Given the description of an element on the screen output the (x, y) to click on. 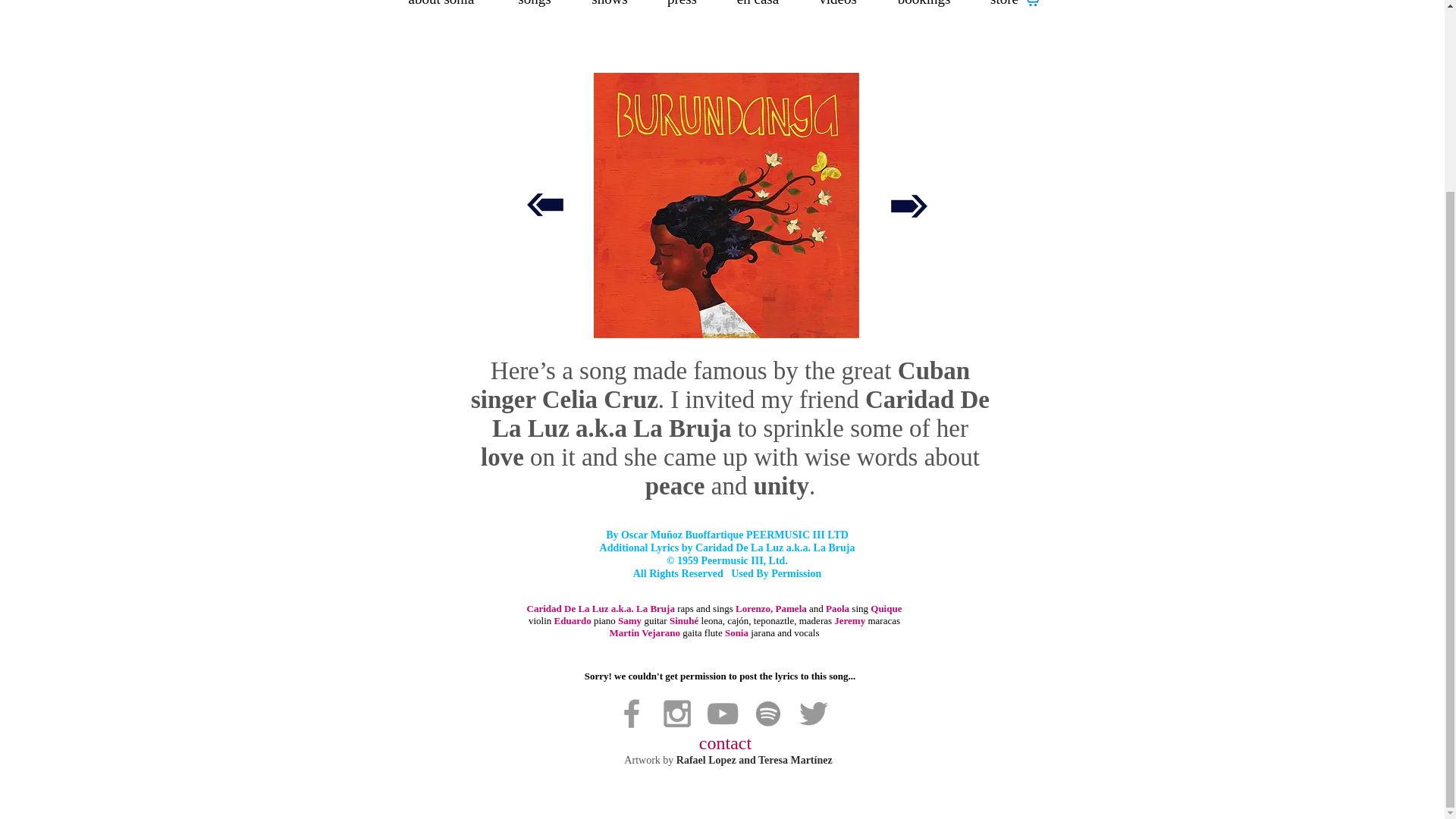
videos (837, 13)
en casa (757, 13)
bookings (924, 13)
store (1004, 13)
press (681, 13)
Burundanga.jpg (725, 205)
about sonia (441, 13)
contact (724, 742)
shows (609, 13)
songs (533, 13)
